Given the description of an element on the screen output the (x, y) to click on. 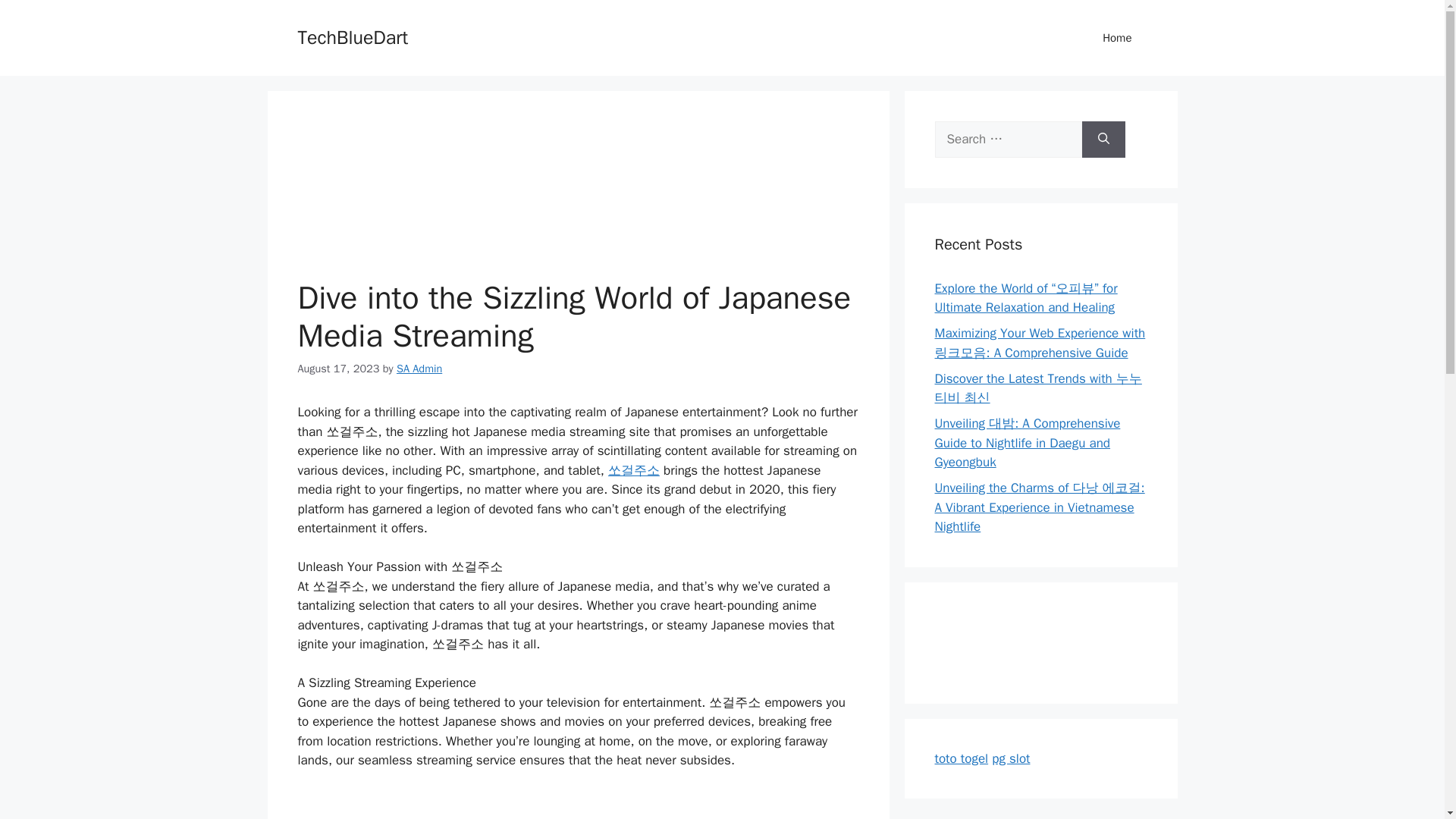
Home (1117, 37)
toto togel (961, 758)
TechBlueDart (352, 37)
pg slot (1010, 758)
Search for: (1007, 139)
SA Admin (419, 367)
View all posts by SA Admin (419, 367)
